Given the description of an element on the screen output the (x, y) to click on. 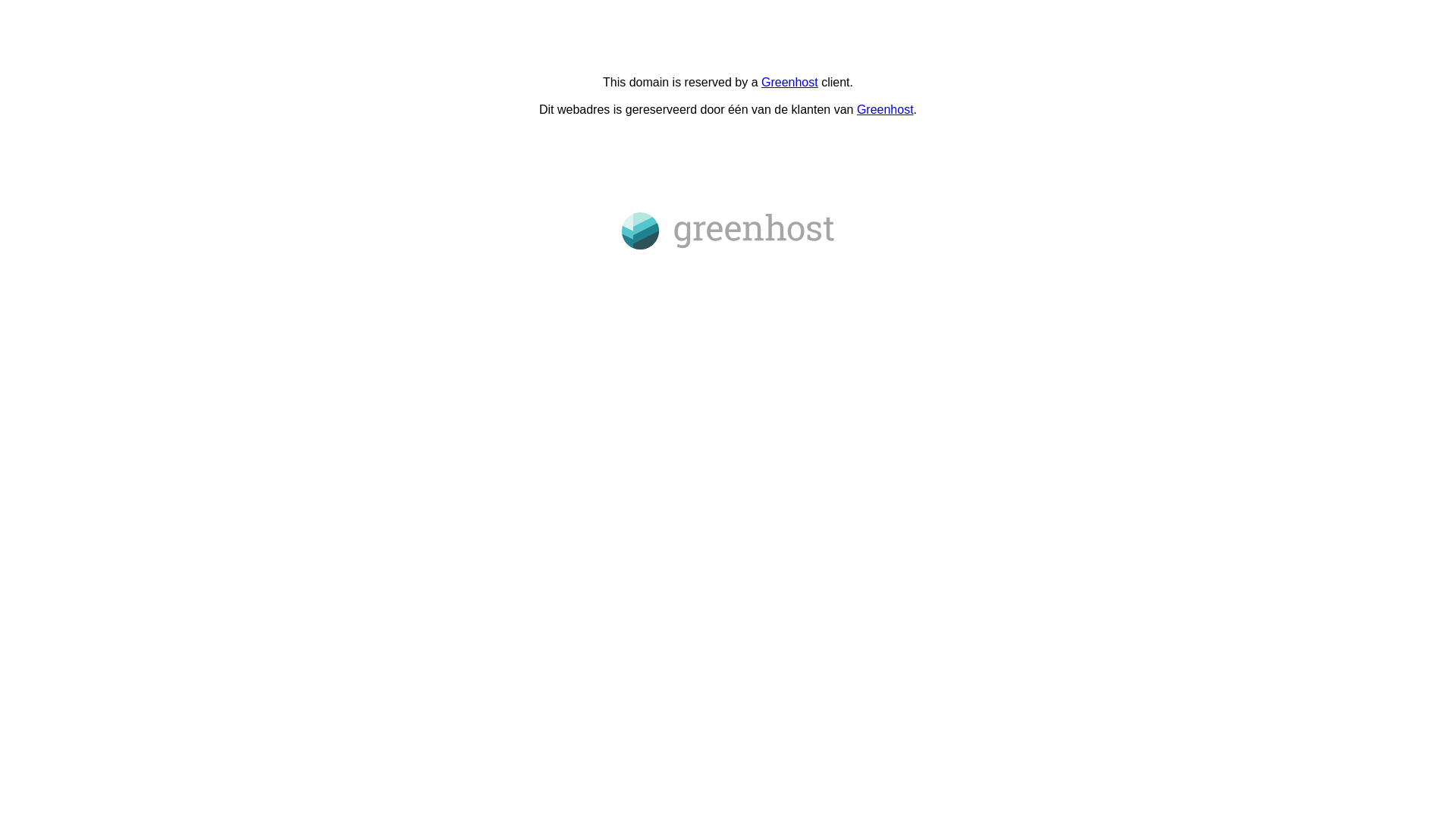
Greenhost Element type: text (789, 81)
Greenhost Element type: text (884, 109)
Hosted by Greenhost Element type: hover (727, 230)
